Given the description of an element on the screen output the (x, y) to click on. 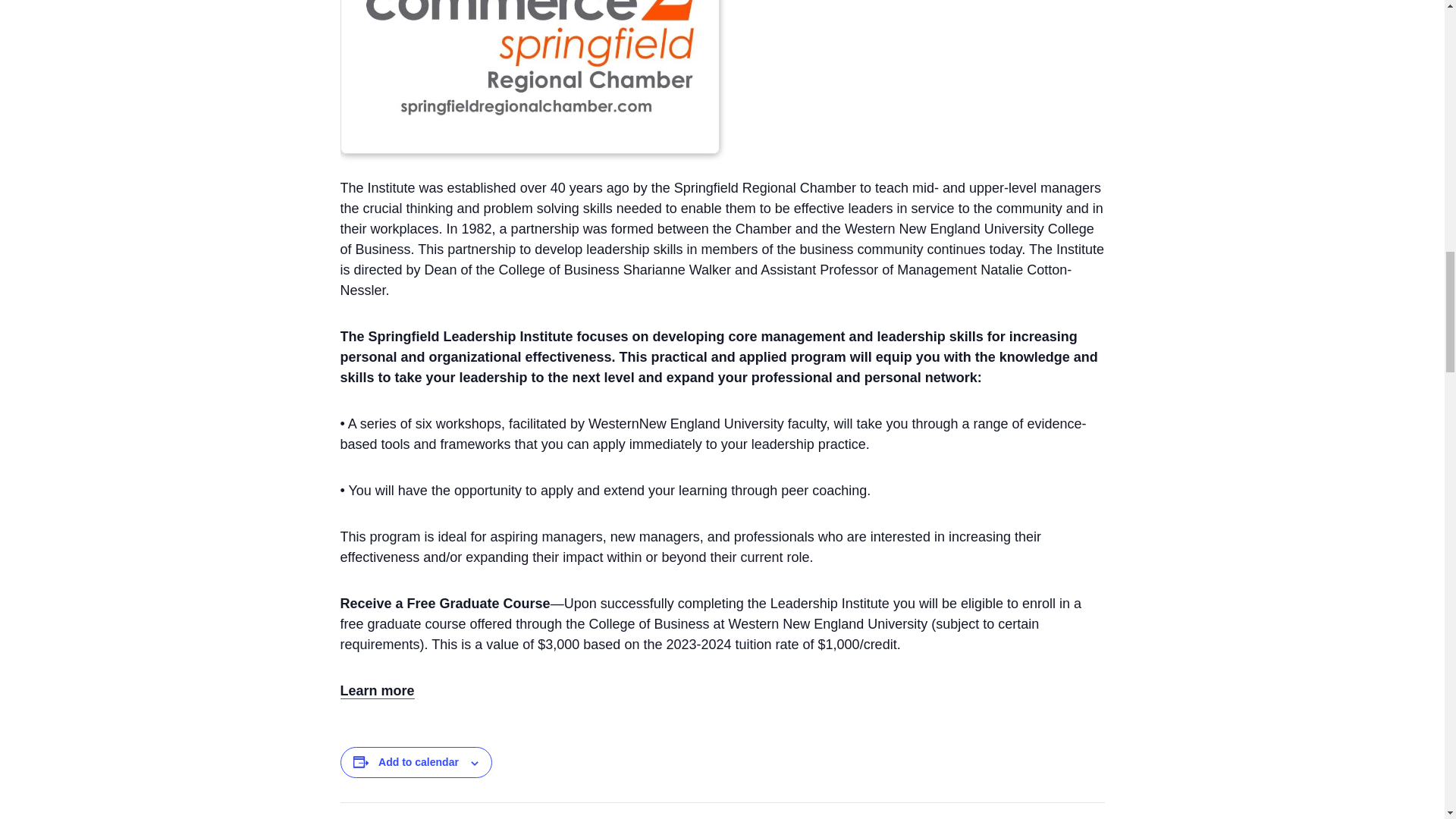
Add to calendar (418, 761)
Learn more (376, 691)
